Given the description of an element on the screen output the (x, y) to click on. 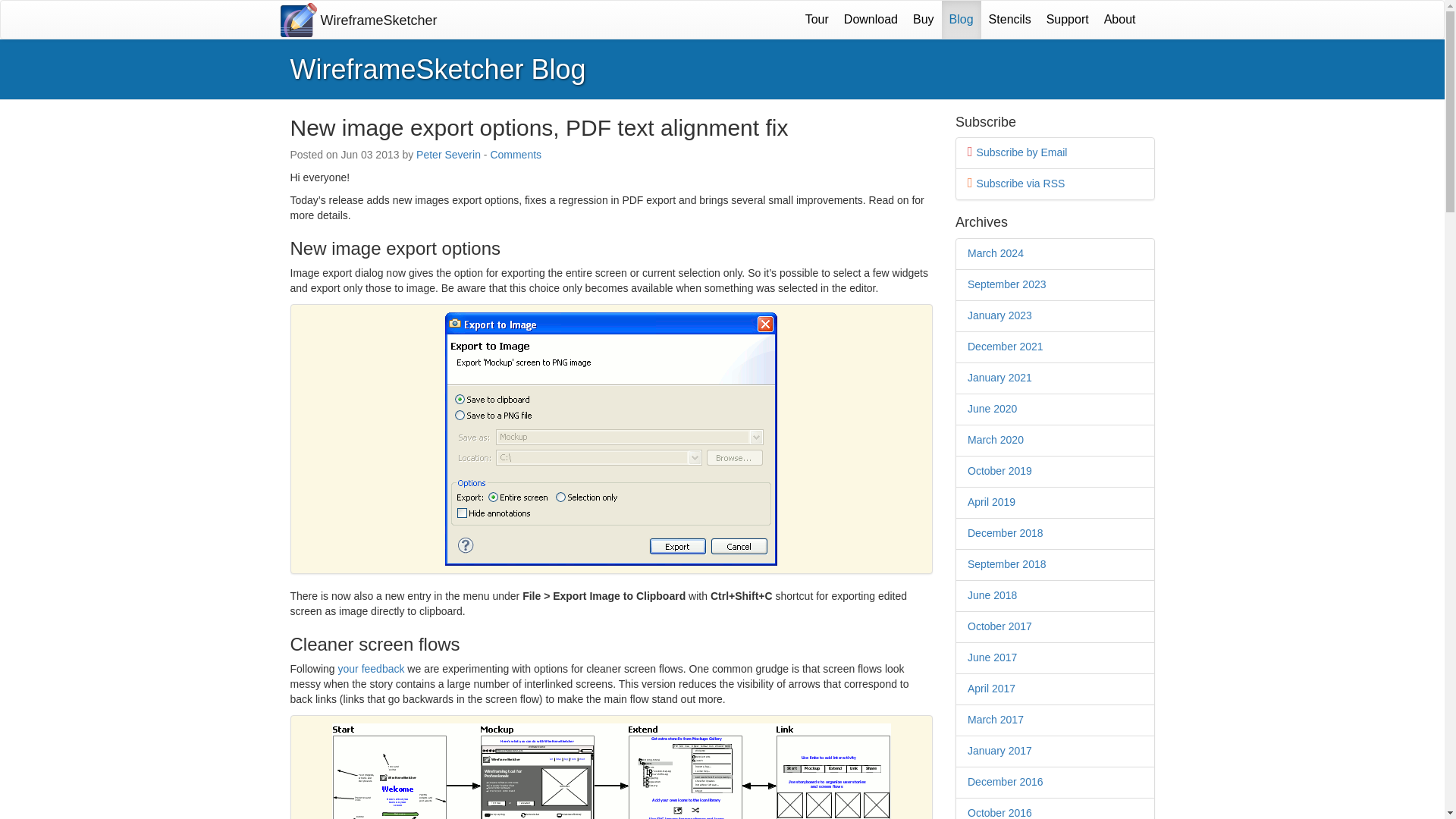
Comments (515, 154)
Tour (816, 19)
June 2018 (992, 594)
Peter Severin (448, 154)
Export Selection Option (611, 438)
Buy (923, 19)
October 2016 (1000, 812)
June 2017 (992, 657)
Subscribe via RSS (1020, 183)
April 2019 (991, 501)
March 2017 (995, 719)
Home! (358, 19)
January 2021 (1000, 377)
March 2024 (995, 253)
September 2018 (1007, 563)
